Given the description of an element on the screen output the (x, y) to click on. 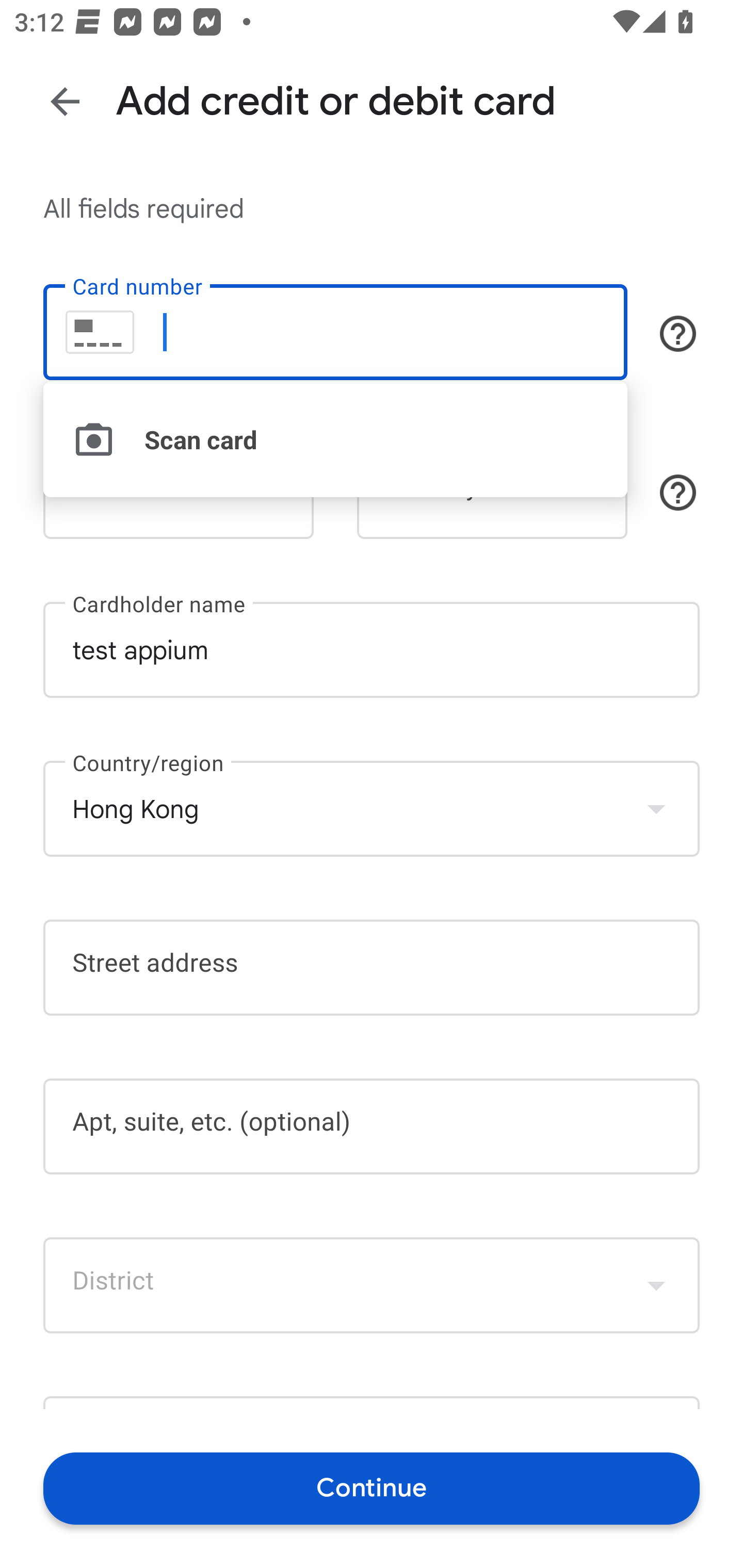
Back (64, 101)
Card number (335, 331)
Button, shows cards that are accepted for payment (677, 333)
Security code help (677, 492)
test appium (371, 649)
Hong Kong (371, 808)
Show dropdown menu (655, 808)
Street address (371, 968)
Apt, suite, etc. (optional) (371, 1126)
District (371, 1284)
Show dropdown menu (655, 1284)
Continue (371, 1487)
